Given the description of an element on the screen output the (x, y) to click on. 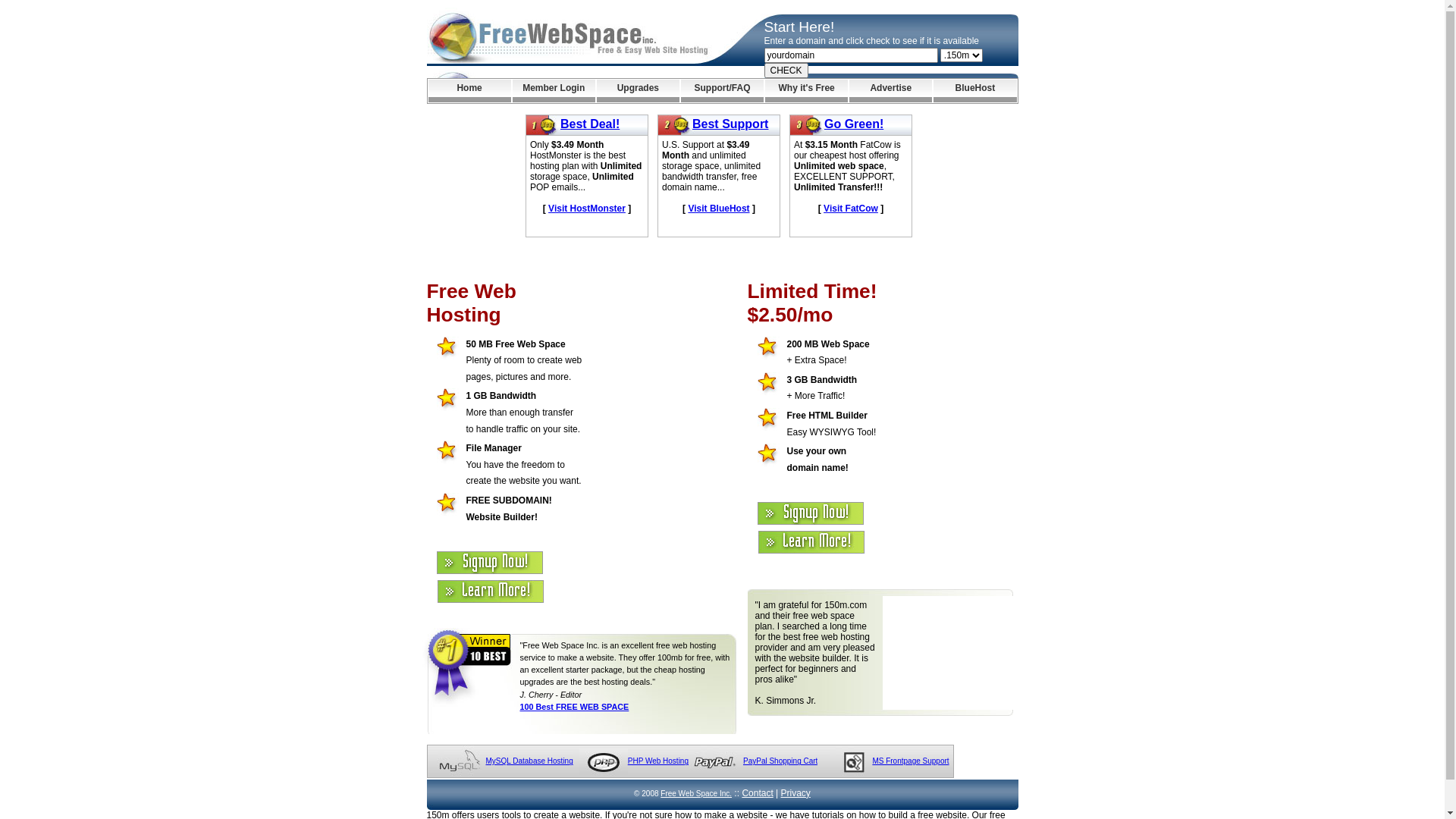
Advertise Element type: text (890, 90)
Upgrades Element type: text (637, 90)
CHECK Element type: text (786, 70)
Why it's Free Element type: text (806, 90)
Privacy Element type: text (795, 792)
Contact Element type: text (756, 792)
PHP Web Hosting Element type: text (657, 760)
MySQL Database Hosting Element type: text (528, 760)
Member Login Element type: text (553, 90)
Home Element type: text (468, 90)
PayPal Shopping Cart Element type: text (780, 760)
100 Best FREE WEB SPACE Element type: text (574, 706)
MS Frontpage Support Element type: text (910, 760)
Free Web Space Inc. Element type: text (695, 793)
BlueHost Element type: text (974, 90)
Support/FAQ Element type: text (721, 90)
